Given the description of an element on the screen output the (x, y) to click on. 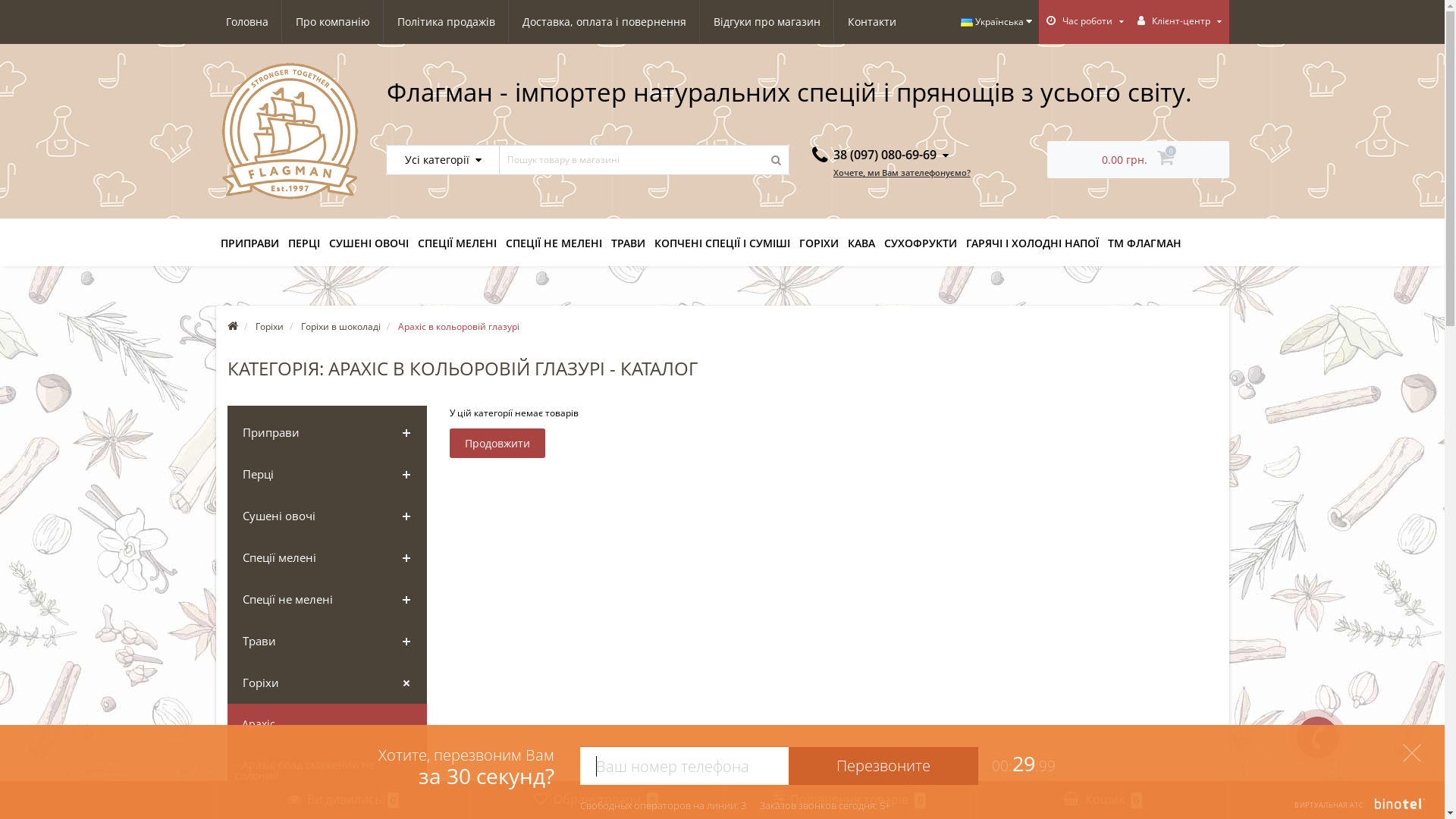
38 (097) 080-69-69 Element type: text (880, 154)
